Given the description of an element on the screen output the (x, y) to click on. 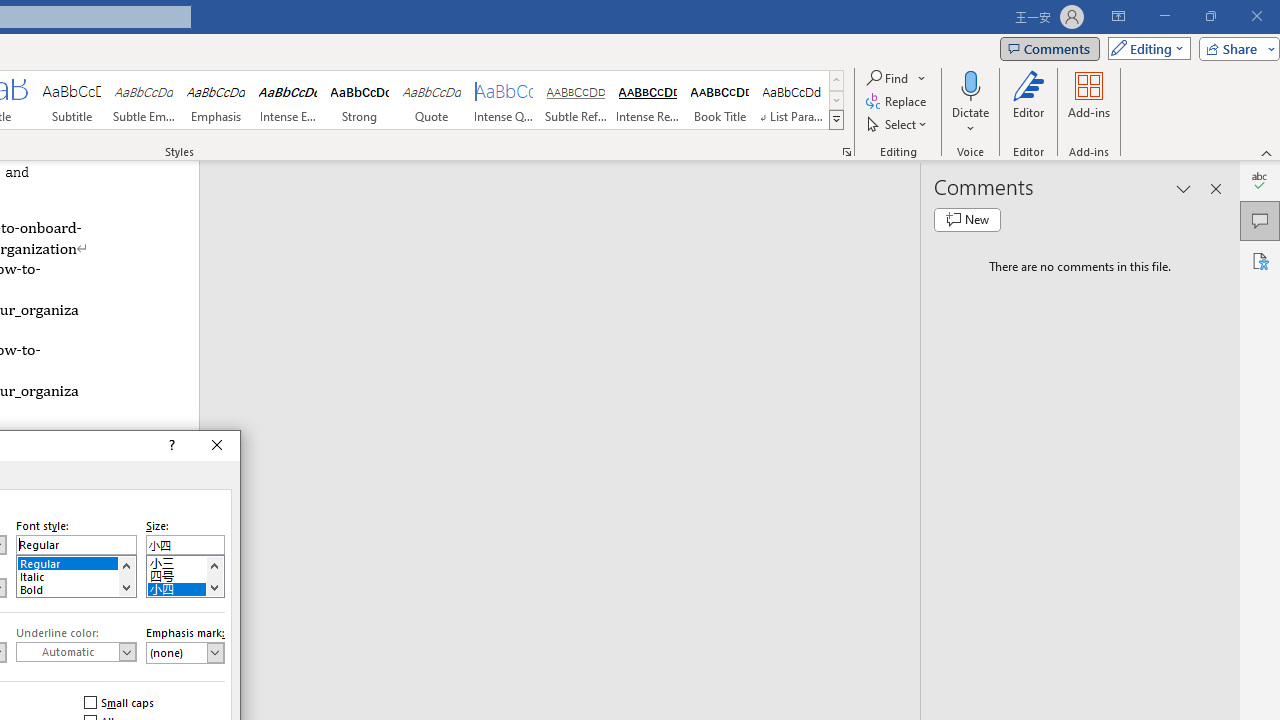
Editor (1260, 180)
AutomationID: 1797 (214, 576)
Underline Color (Automatic) (75, 651)
Class: NetUIImage (836, 119)
Dictate (970, 102)
Line up (214, 565)
New comment (967, 219)
Strong (359, 100)
Comments (1049, 48)
Row Down (836, 100)
Font style: (75, 544)
RichEdit Control (185, 544)
Small caps (120, 702)
